Given the description of an element on the screen output the (x, y) to click on. 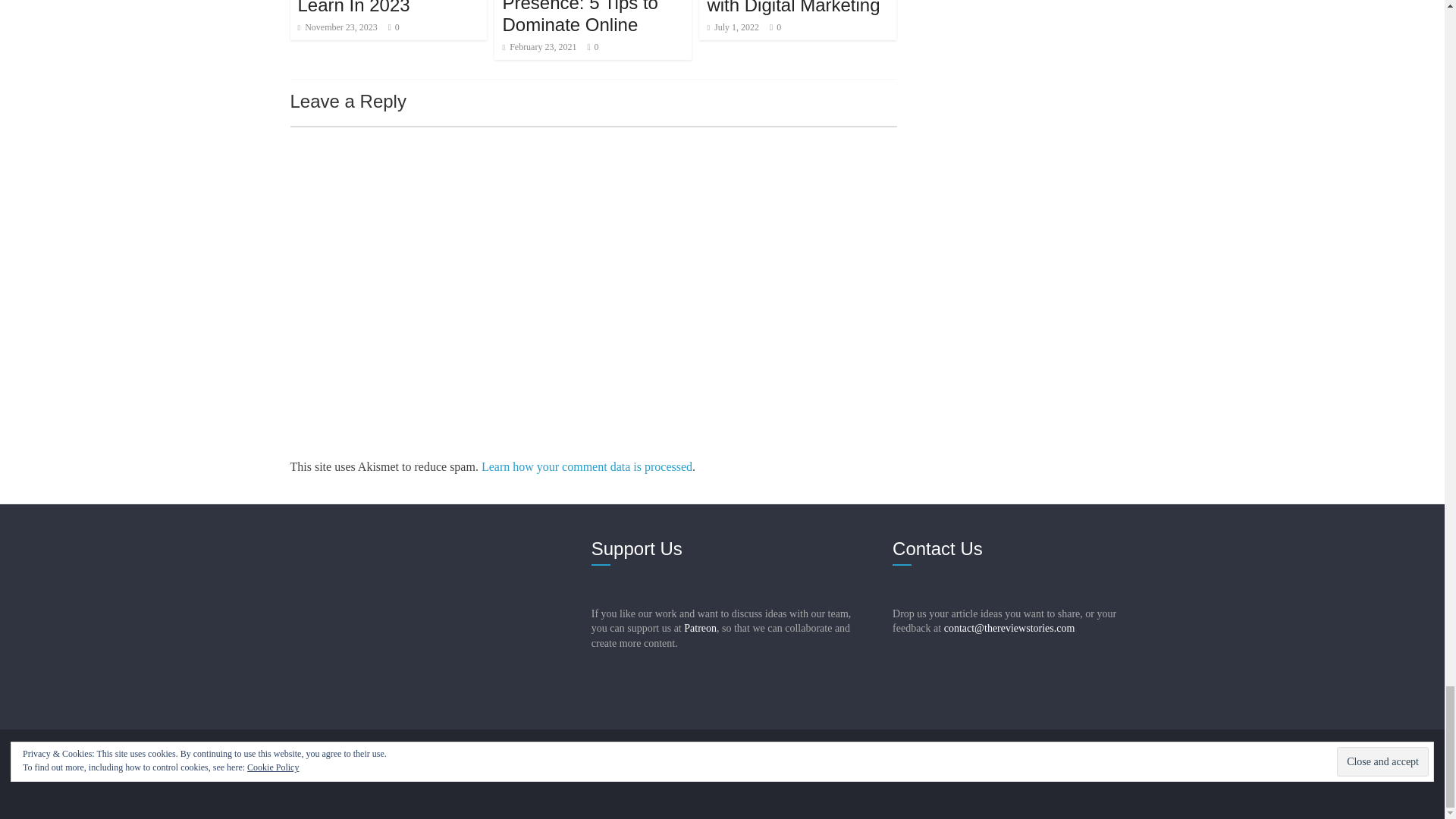
Building a Digital Presence: 5 Tips to Dominate Online (580, 18)
11:13 pm (337, 27)
